Given the description of an element on the screen output the (x, y) to click on. 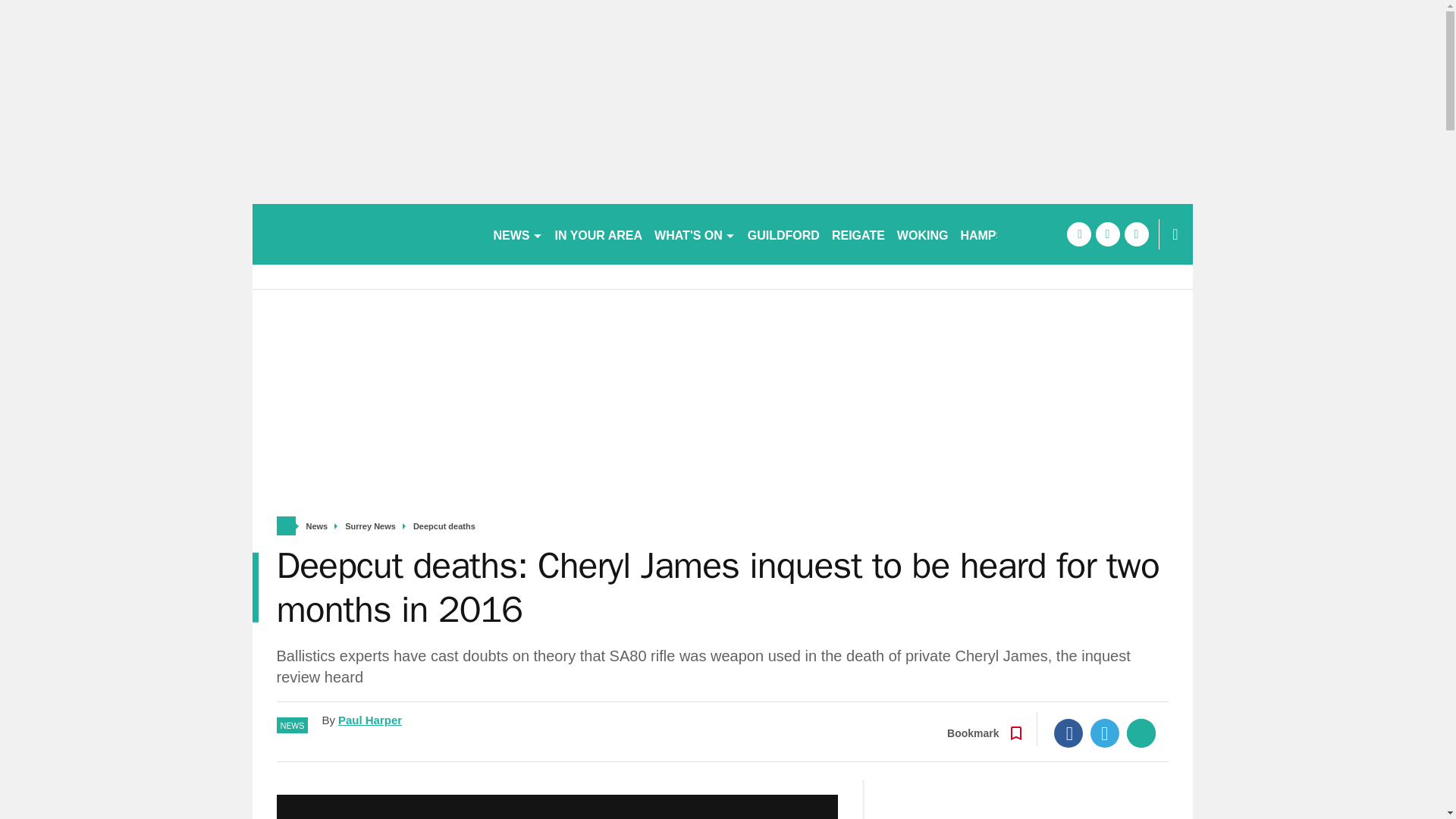
Twitter (1104, 733)
twitter (1106, 233)
WHAT'S ON (694, 233)
facebook (1077, 233)
HAMPSHIRE (996, 233)
getsurrey (365, 233)
GUILDFORD (783, 233)
NEWS (517, 233)
WOKING (923, 233)
instagram (1136, 233)
